Given the description of an element on the screen output the (x, y) to click on. 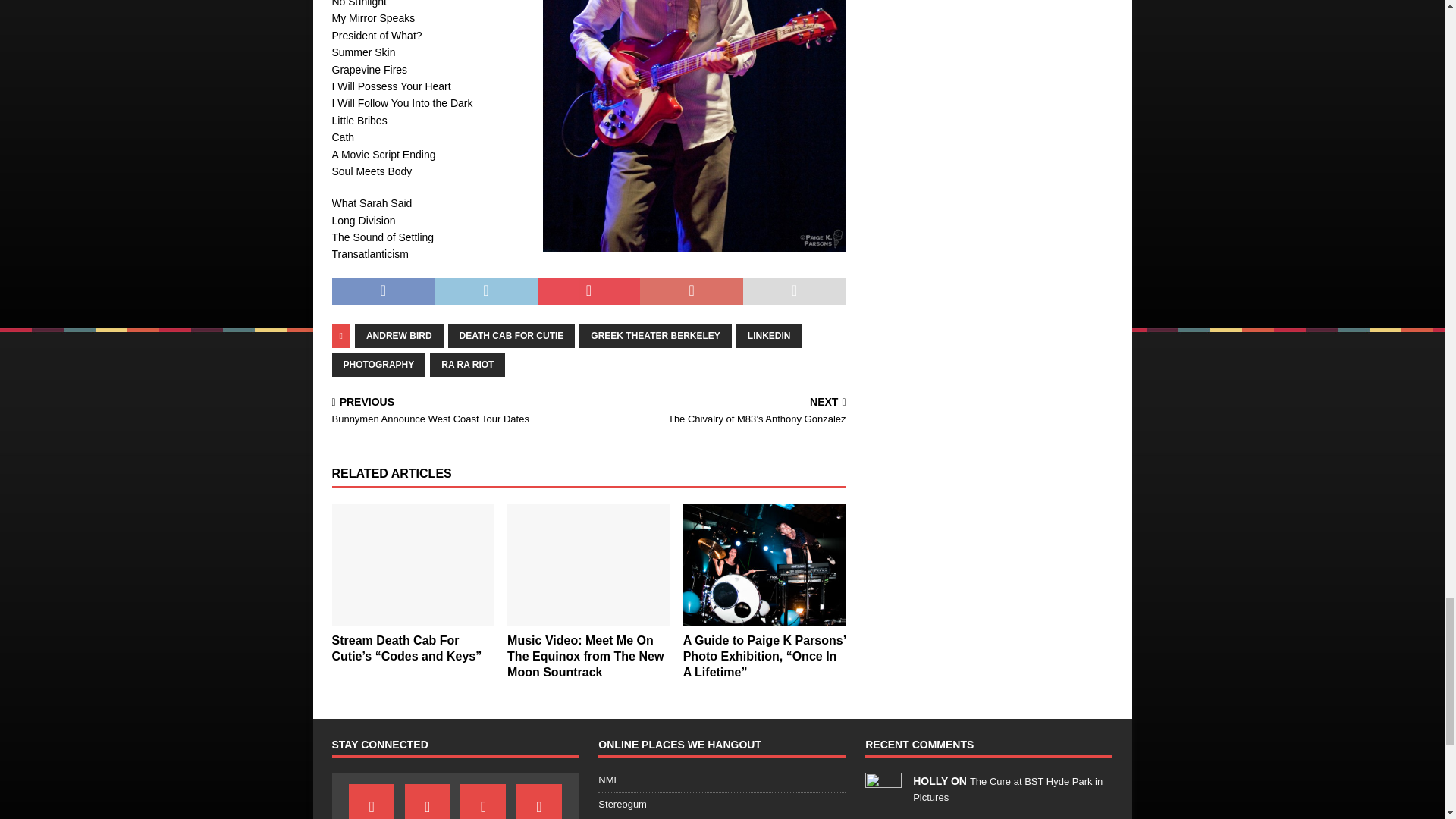
Chris Walla (694, 125)
